Given the description of an element on the screen output the (x, y) to click on. 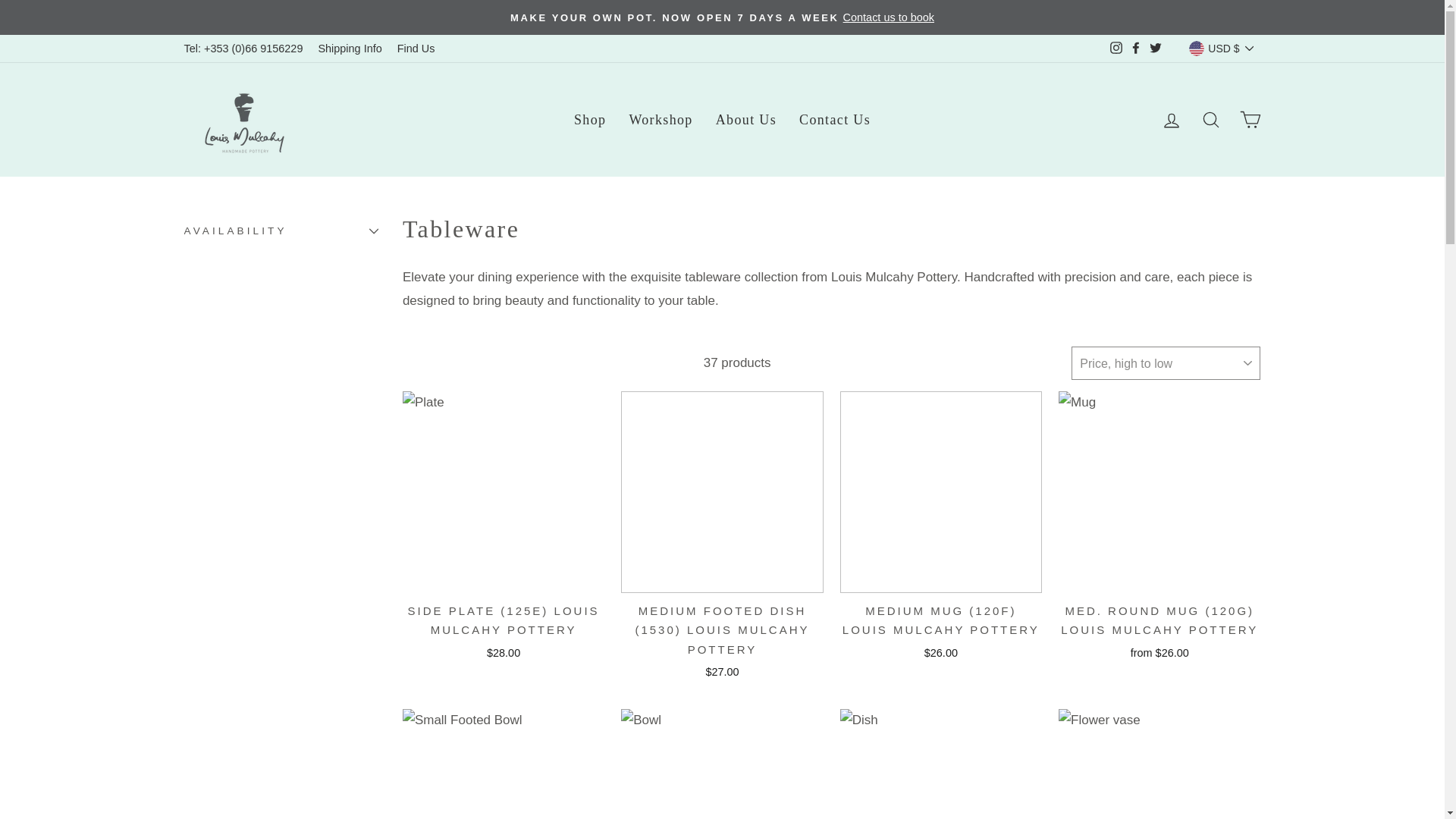
Shipping Info (349, 48)
MAKE YOUR OWN POT. NOW OPEN 7 DAYS A WEEKContact us to book (722, 17)
